Given the description of an element on the screen output the (x, y) to click on. 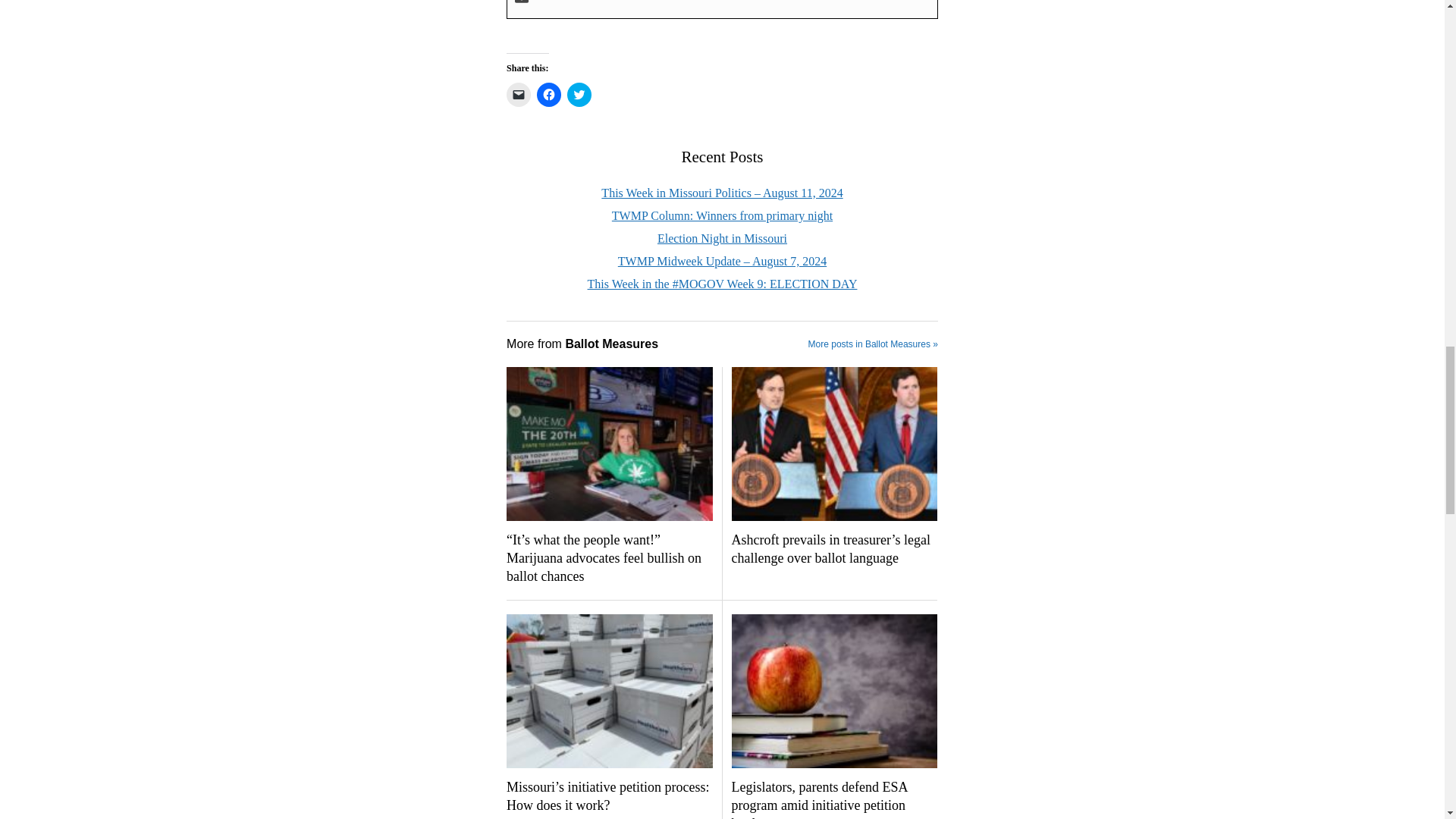
Click to share on Twitter (579, 94)
Election Night in Missouri (722, 237)
Click to email a link to a friend (518, 94)
User email (521, 3)
TWMP Column: Winners from primary night (721, 215)
Click to share on Facebook (548, 94)
